Given the description of an element on the screen output the (x, y) to click on. 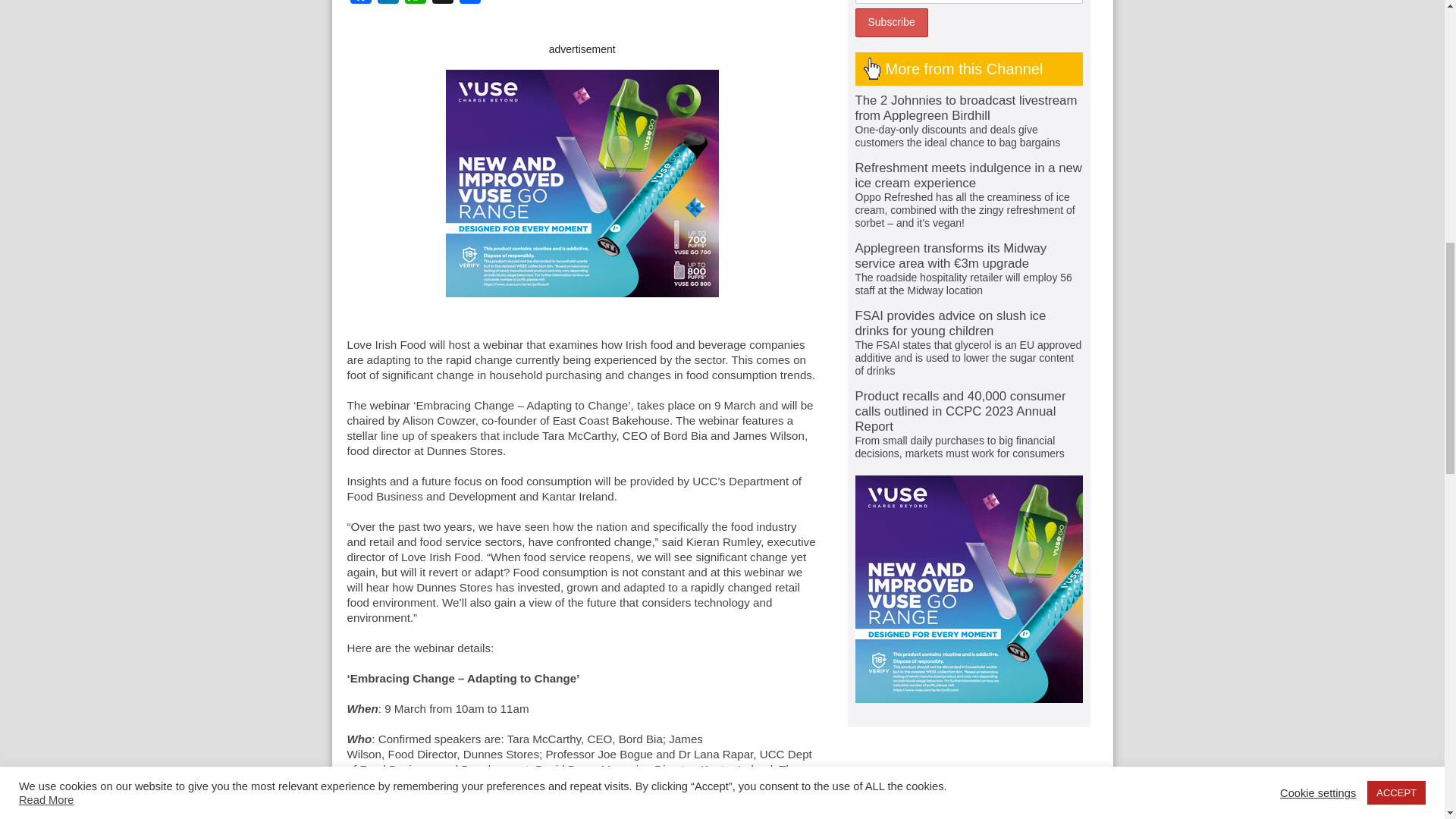
Subscribe (892, 22)
Share (470, 2)
WhatsApp (415, 2)
LinkedIn (387, 2)
Facebook (360, 2)
X (443, 2)
